Given the description of an element on the screen output the (x, y) to click on. 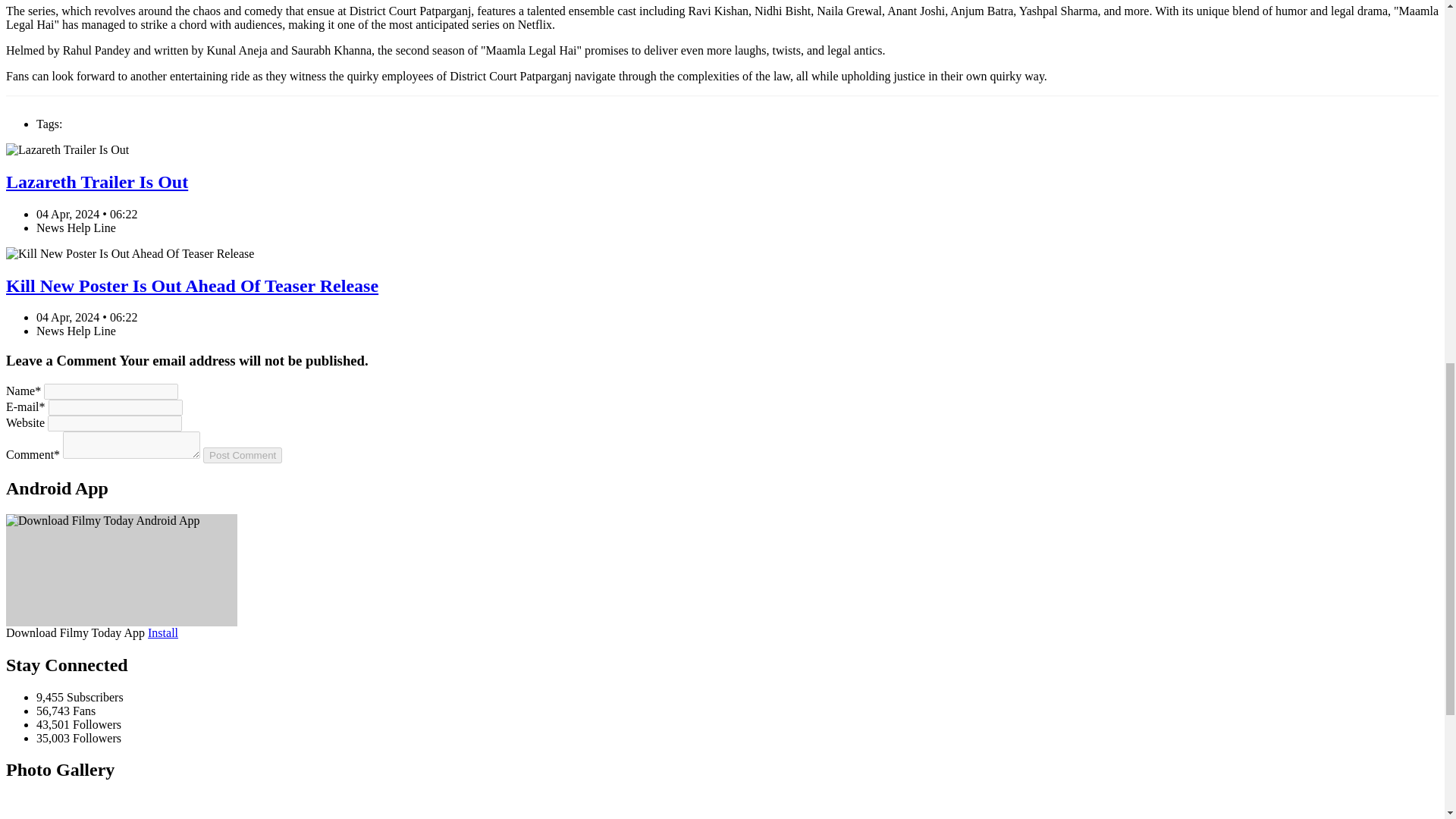
Install (162, 632)
Kill New Poster Is Out Ahead Of Teaser Release (191, 285)
Post Comment (242, 455)
Lazareth Trailer Is Out (96, 181)
Download Filmy Today Android App (162, 632)
